Given the description of an element on the screen output the (x, y) to click on. 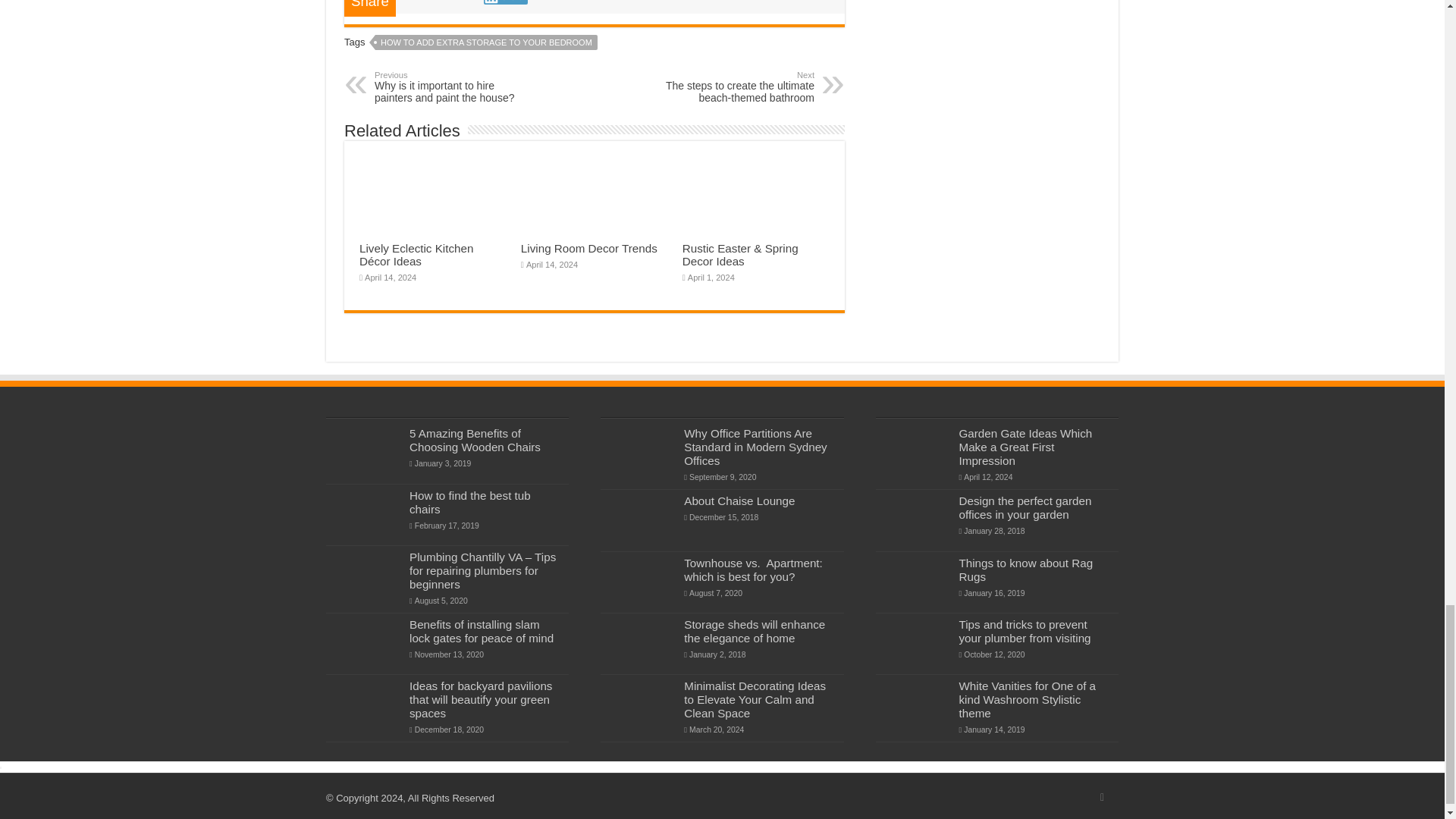
HOW TO ADD EXTRA STORAGE TO YOUR BEDROOM (485, 42)
Living Room Decor Trends (589, 247)
Share (736, 87)
